Given the description of an element on the screen output the (x, y) to click on. 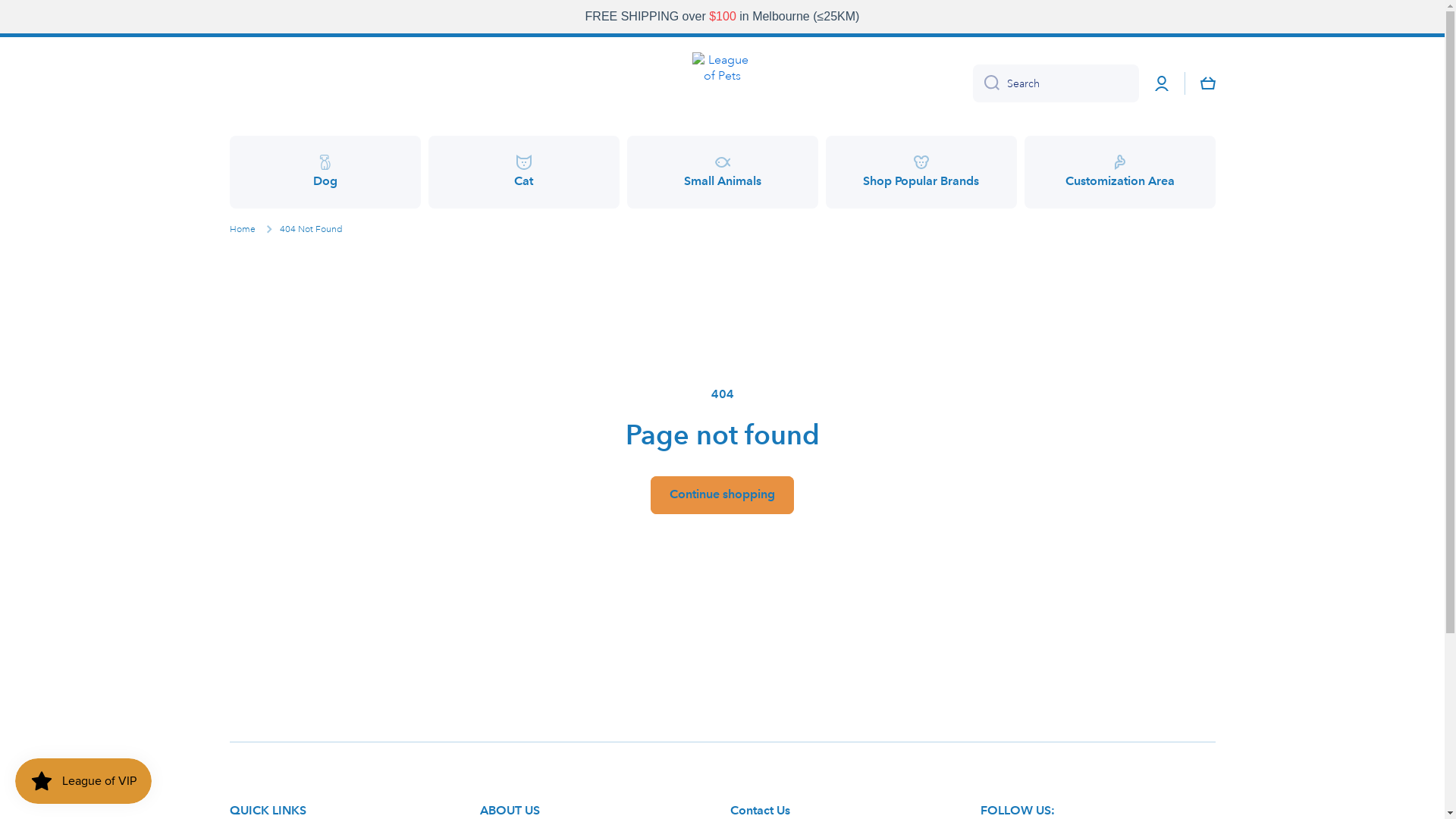
Customization Area Element type: text (1118, 171)
Cat Element type: text (522, 171)
Cart Element type: text (1206, 83)
Smile.io Rewards Program Launcher Element type: hover (83, 780)
Shop Popular Brands Element type: text (920, 171)
Log in Element type: text (1161, 83)
Dog Element type: text (324, 171)
Small Animals Element type: text (721, 171)
Continue shopping Element type: text (721, 495)
Home Element type: text (241, 229)
